Given the description of an element on the screen output the (x, y) to click on. 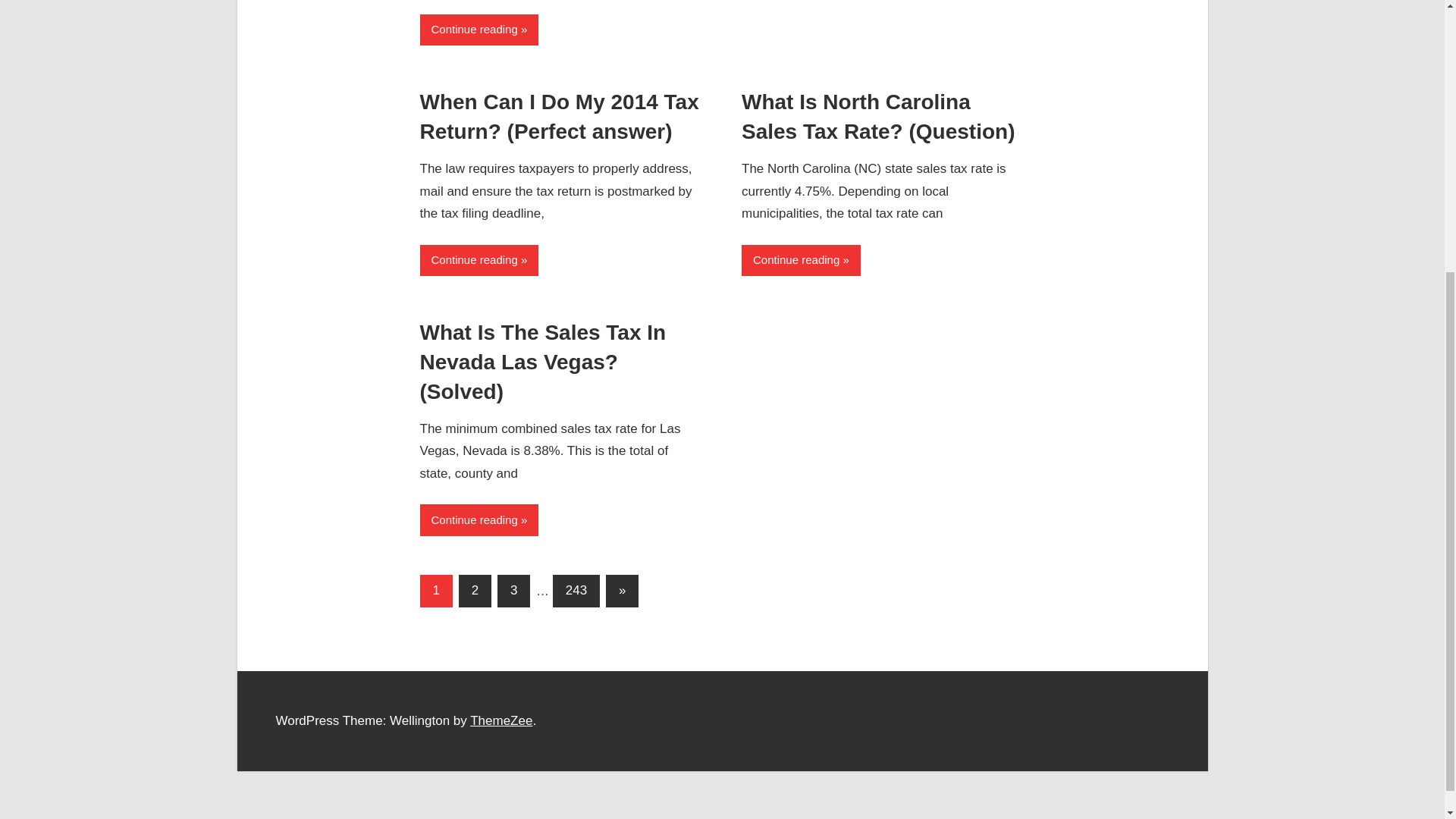
3 (513, 590)
ThemeZee (501, 720)
Continue reading (479, 260)
Continue reading (479, 519)
Continue reading (800, 260)
2 (475, 590)
243 (576, 590)
Continue reading (479, 29)
